Given the description of an element on the screen output the (x, y) to click on. 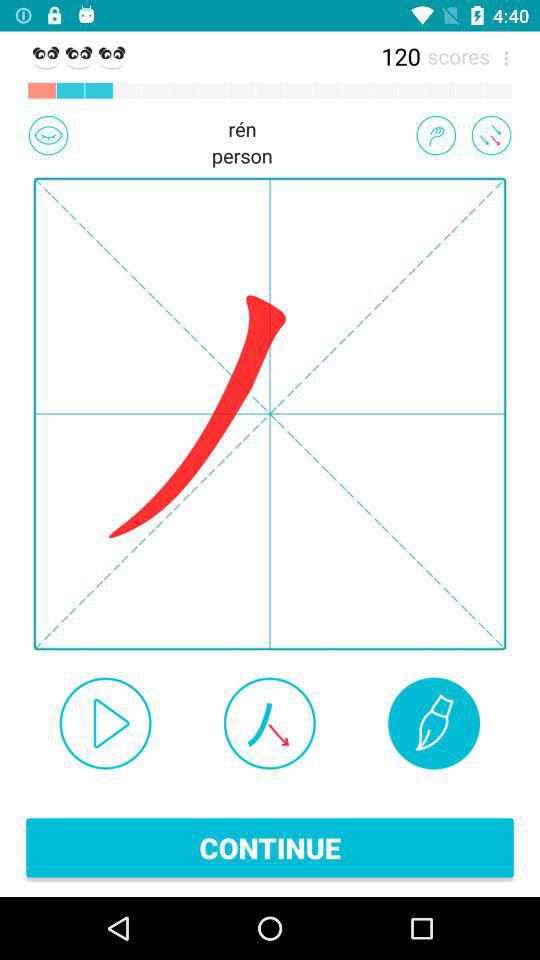
turn off the icon above continue item (434, 723)
